Given the description of an element on the screen output the (x, y) to click on. 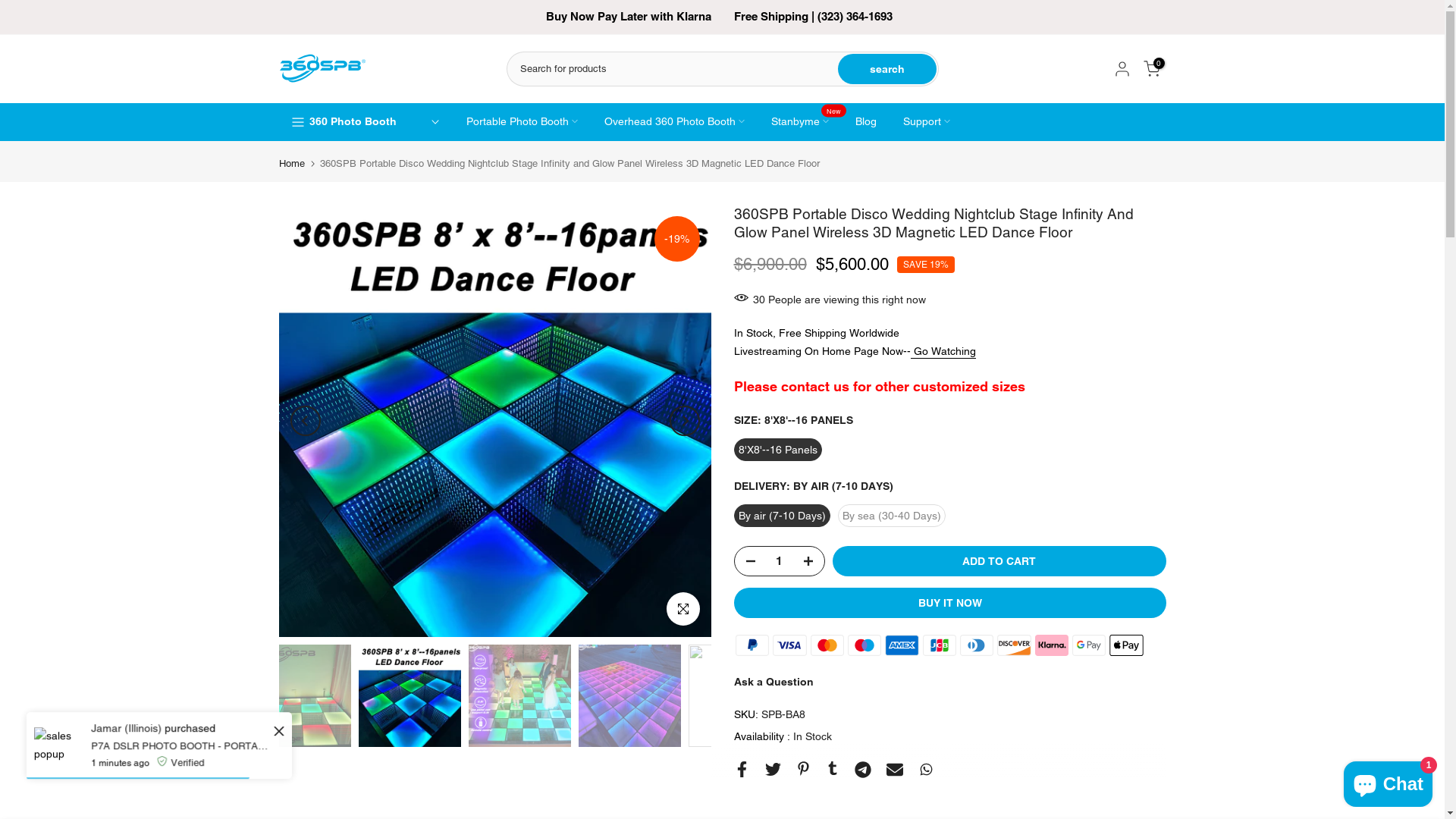
Share on WhatsApp Element type: hover (925, 769)
Share on Pinterest Element type: hover (803, 768)
Share on Telegram Element type: hover (861, 769)
Blog Element type: text (865, 121)
Stanbyme
New Element type: text (800, 121)
Ask a Question Element type: text (773, 681)
Share on Email Element type: hover (893, 769)
search Element type: text (886, 68)
ADD TO CART Element type: text (999, 561)
Shopify online store chat Element type: hover (1388, 780)
Go Watching Element type: text (944, 351)
0 Element type: text (1151, 68)
Support Element type: text (926, 121)
360 Photo Booth Element type: text (352, 121)
Home Element type: text (291, 163)
BUY IT NOW Element type: text (950, 602)
Share on Twitter Element type: hover (772, 769)
Portable Photo Booth Element type: text (522, 121)
Share on Facebook Element type: hover (741, 769)
Share on Tumblr Element type: hover (831, 768)
Overhead 360 Photo Booth Element type: text (674, 121)
